Given the description of an element on the screen output the (x, y) to click on. 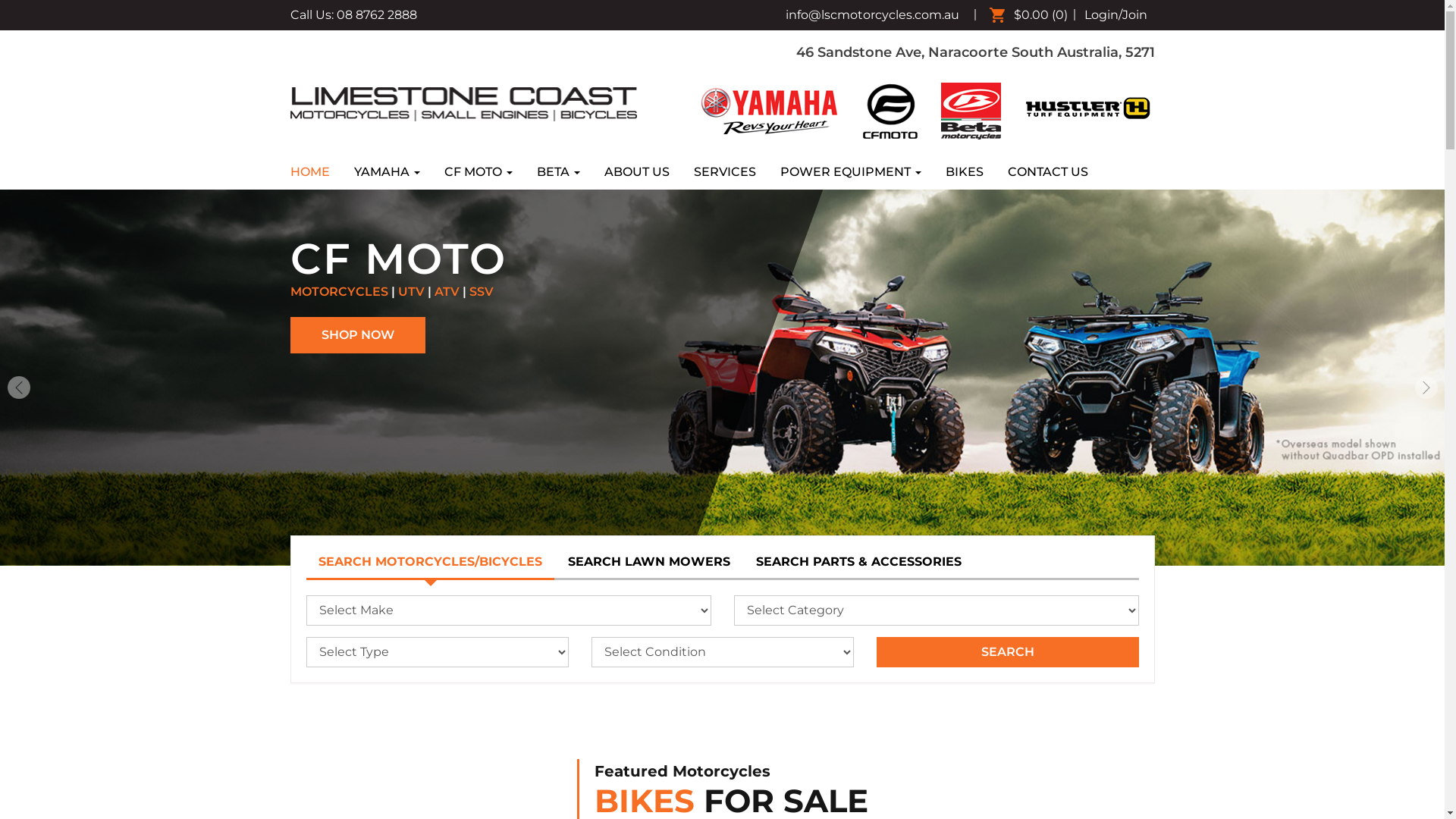
ABOUT US Element type: text (636, 171)
SEARCH PARTS & ACCESSORIES Element type: text (857, 521)
Next Element type: hover (18, 373)
Previous Element type: hover (18, 387)
$0.00 (0) Element type: text (1031, 15)
BETA Element type: text (558, 171)
SEARCH MOTORCYCLES/BICYCLES Element type: text (430, 522)
info@lscmotorcycles.com.au Element type: text (872, 15)
08 8762 2888 Element type: text (376, 15)
Login/Join Element type: text (1115, 15)
SERVICES Element type: text (723, 171)
YAMAHA Element type: text (385, 171)
Next Element type: hover (1426, 387)
Search Element type: text (1007, 611)
SEARCH LAWN MOWERS Element type: text (648, 521)
CONTACT US Element type: text (1047, 171)
SHOP NOW Element type: text (1079, 334)
HOME Element type: text (314, 171)
Next Element type: hover (1426, 373)
CF MOTO Element type: text (478, 171)
BIKES Element type: text (963, 171)
POWER EQUIPMENT Element type: text (849, 171)
